Given the description of an element on the screen output the (x, y) to click on. 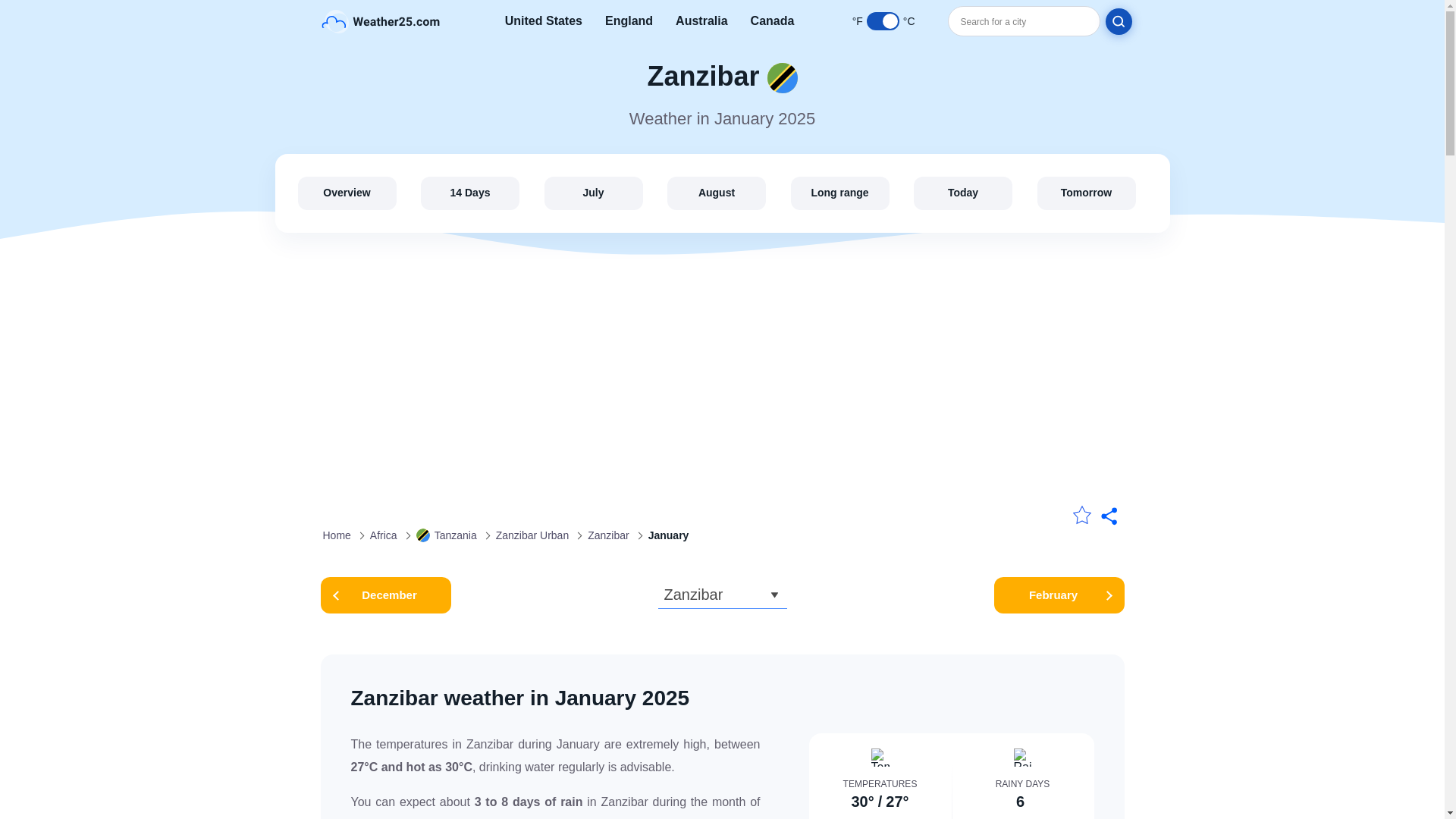
Overview (346, 192)
Canada (772, 20)
Share (1109, 517)
weather25.com (380, 20)
14 Days (469, 192)
August (715, 192)
Temperatures (879, 757)
Weather in Canada (772, 20)
Tomorrow (1085, 192)
Australia (700, 20)
United States (543, 20)
Zanzibar Urban (532, 534)
Weather in United States (543, 20)
December (384, 594)
Rainy Days (1021, 757)
